Given the description of an element on the screen output the (x, y) to click on. 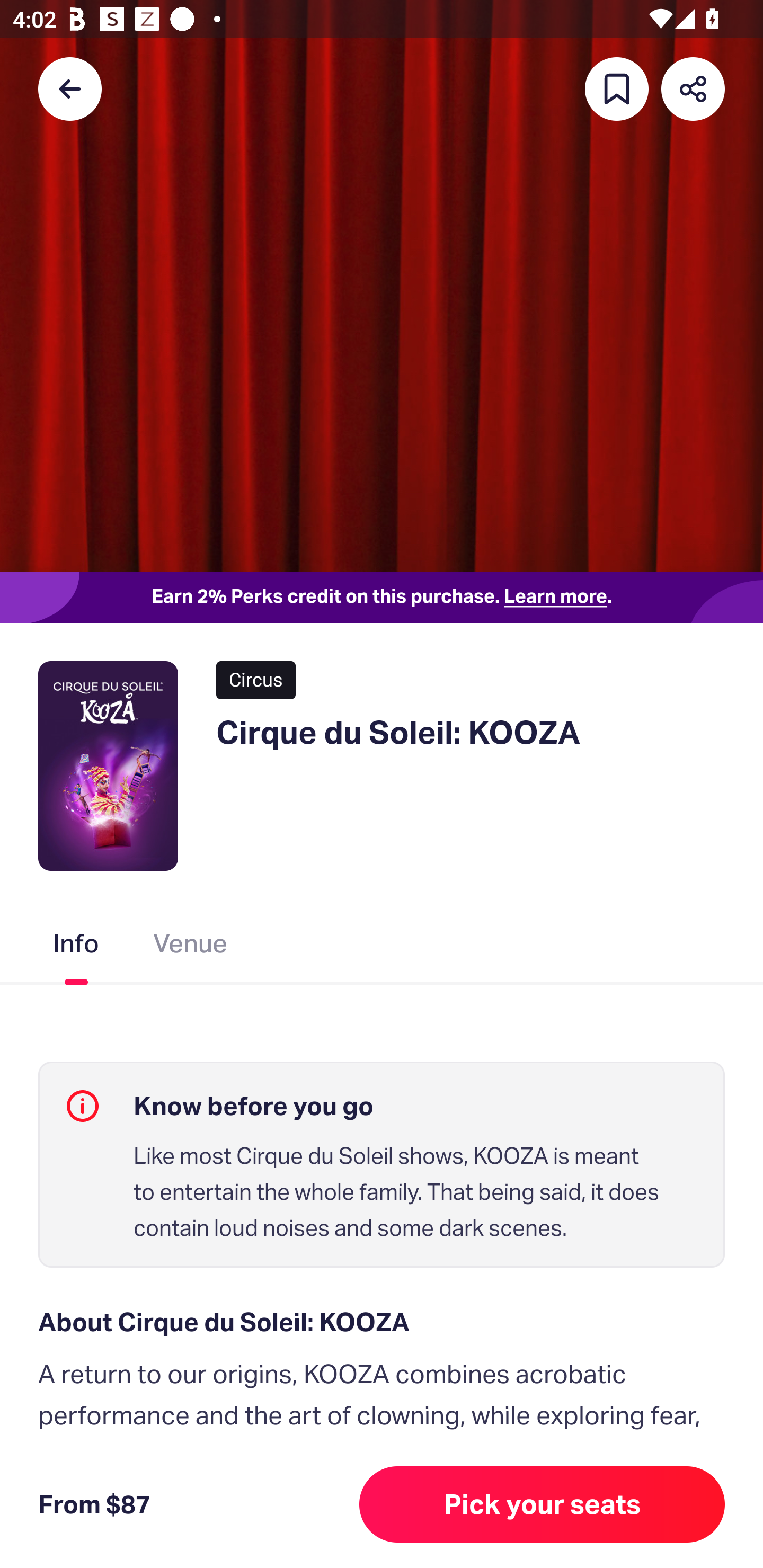
Earn 2% Perks credit on this purchase. Learn more. (381, 597)
Venue (190, 946)
About Cirque du Soleil: KOOZA (381, 1322)
Pick your seats (541, 1504)
